Given the description of an element on the screen output the (x, y) to click on. 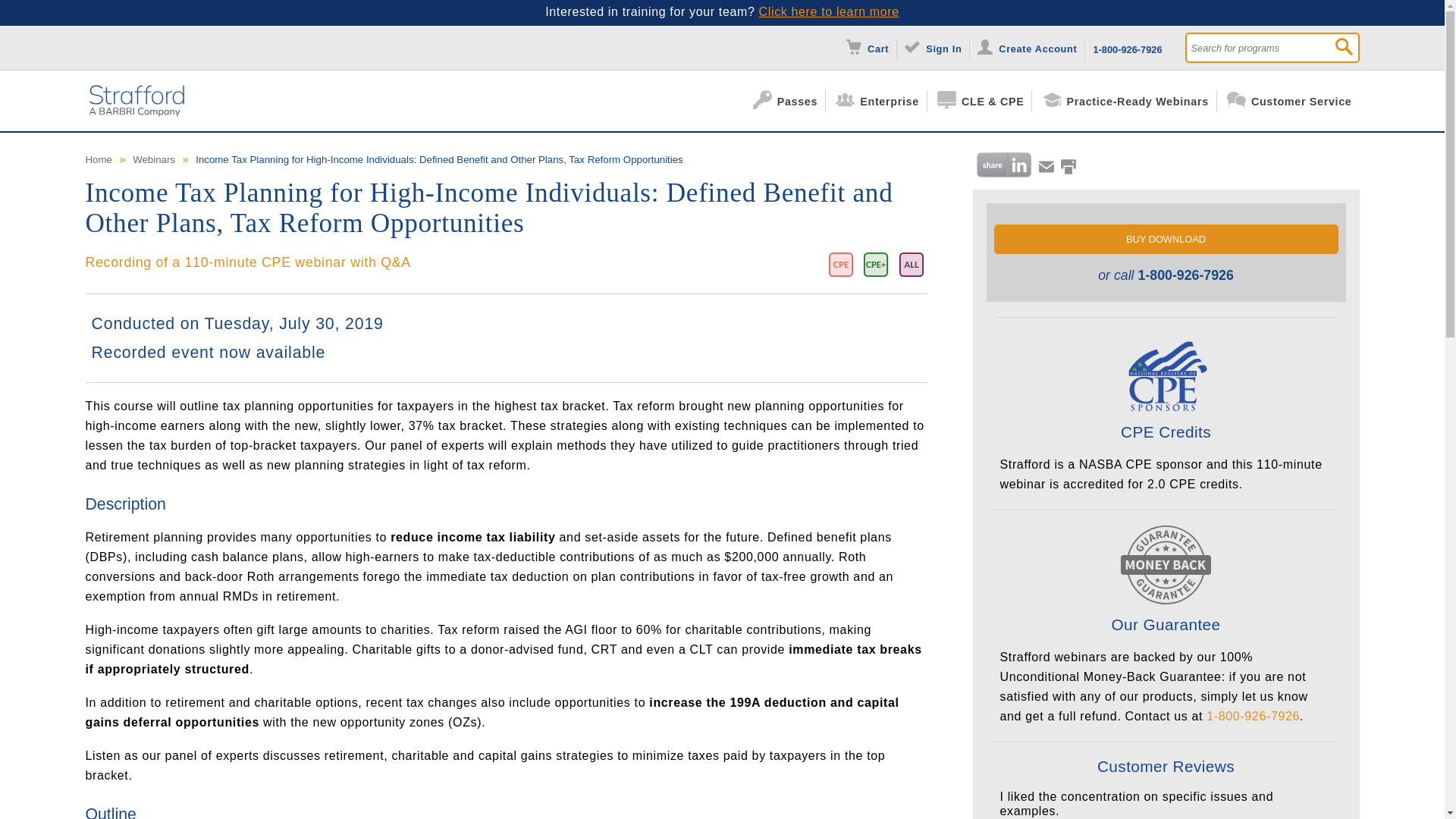
Create Account (1030, 46)
Buy Download (1165, 238)
Sign In (936, 46)
Cart (870, 46)
Click here to learn more (828, 11)
Enterprise (880, 100)
1-800-926-7926 (1126, 47)
Passes (788, 100)
